Given the description of an element on the screen output the (x, y) to click on. 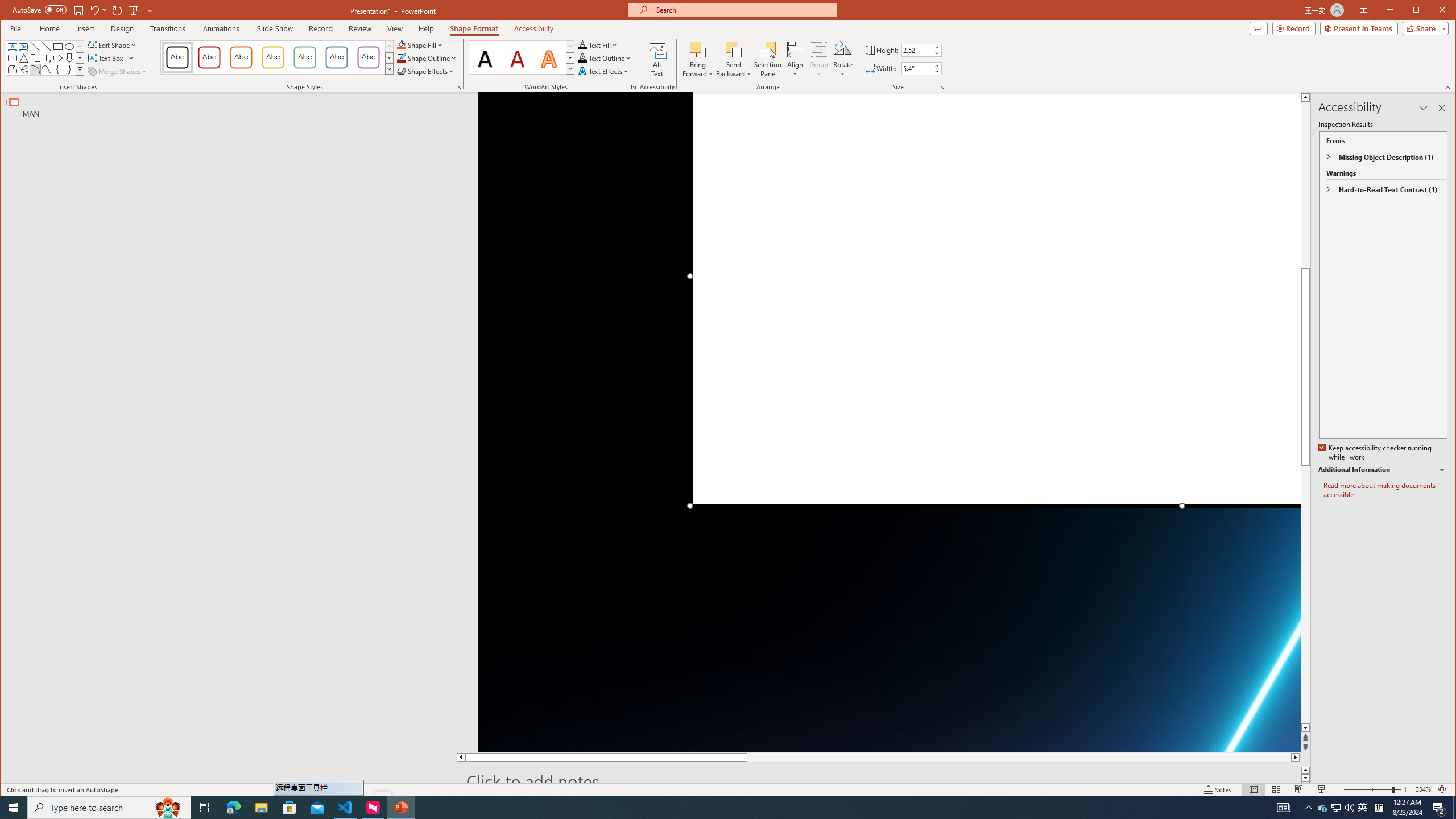
Text Outline RGB(0, 0, 0) (582, 57)
Notes  (1217, 789)
Class: NetUIImage (569, 68)
Edit Shape (112, 44)
Type here to search (108, 807)
Merge Shapes (118, 70)
Review (360, 28)
Microsoft search (742, 10)
Shape Effects (425, 70)
View (395, 28)
PowerPoint - 1 running window (400, 807)
Present in Teams (1358, 28)
Rectangle (221, 436)
From Beginning (133, 9)
